Given the description of an element on the screen output the (x, y) to click on. 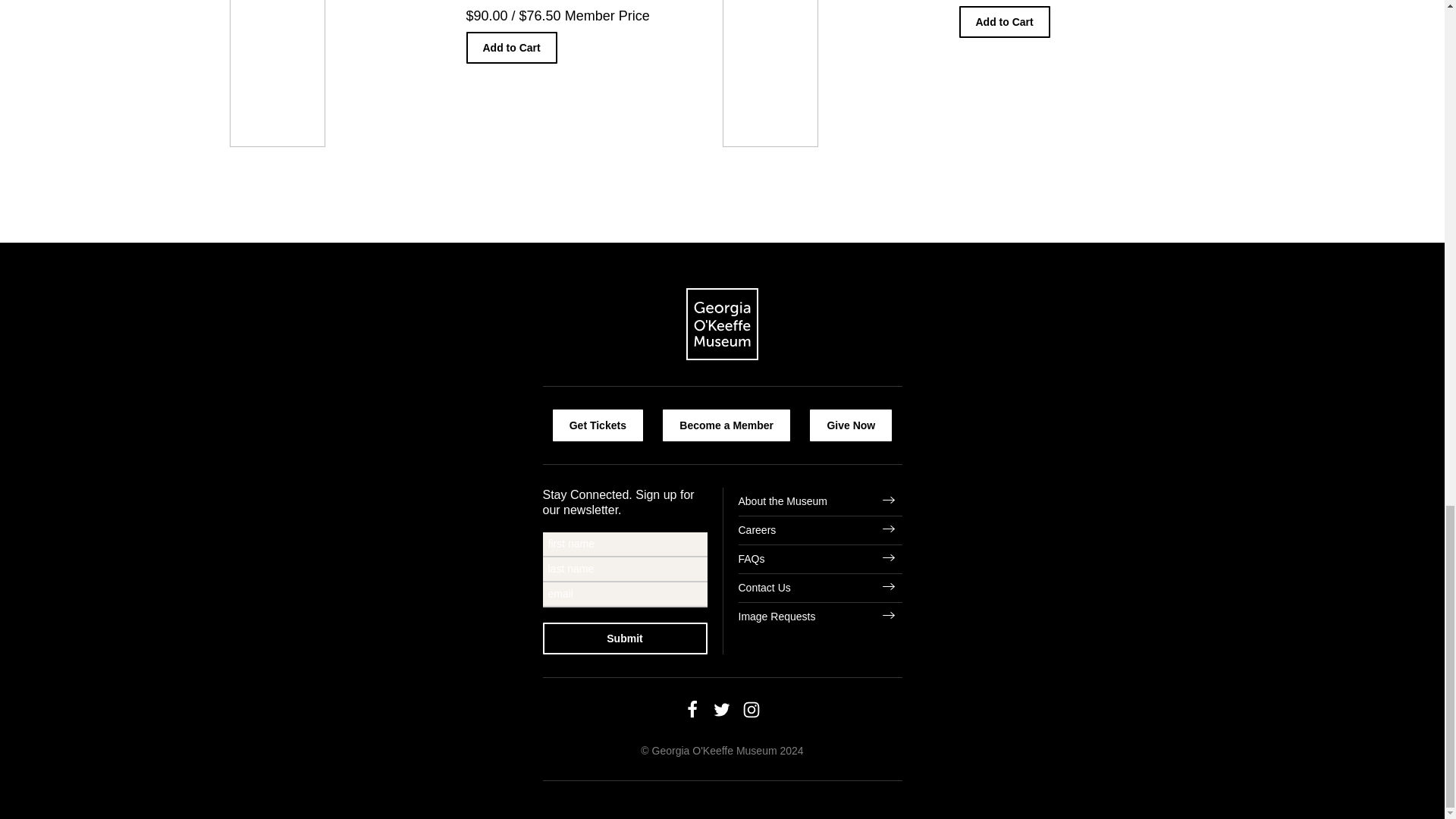
Hollyhock and Larkspur Custom Scarf product detail page (464, 74)
Add to Cart (510, 47)
Become a Member (726, 425)
Add to Cart (1003, 21)
Glass Tile Frame product detail page (958, 74)
The Georgia O'Keeffe Museum (721, 325)
Get Tickets (598, 425)
